Given the description of an element on the screen output the (x, y) to click on. 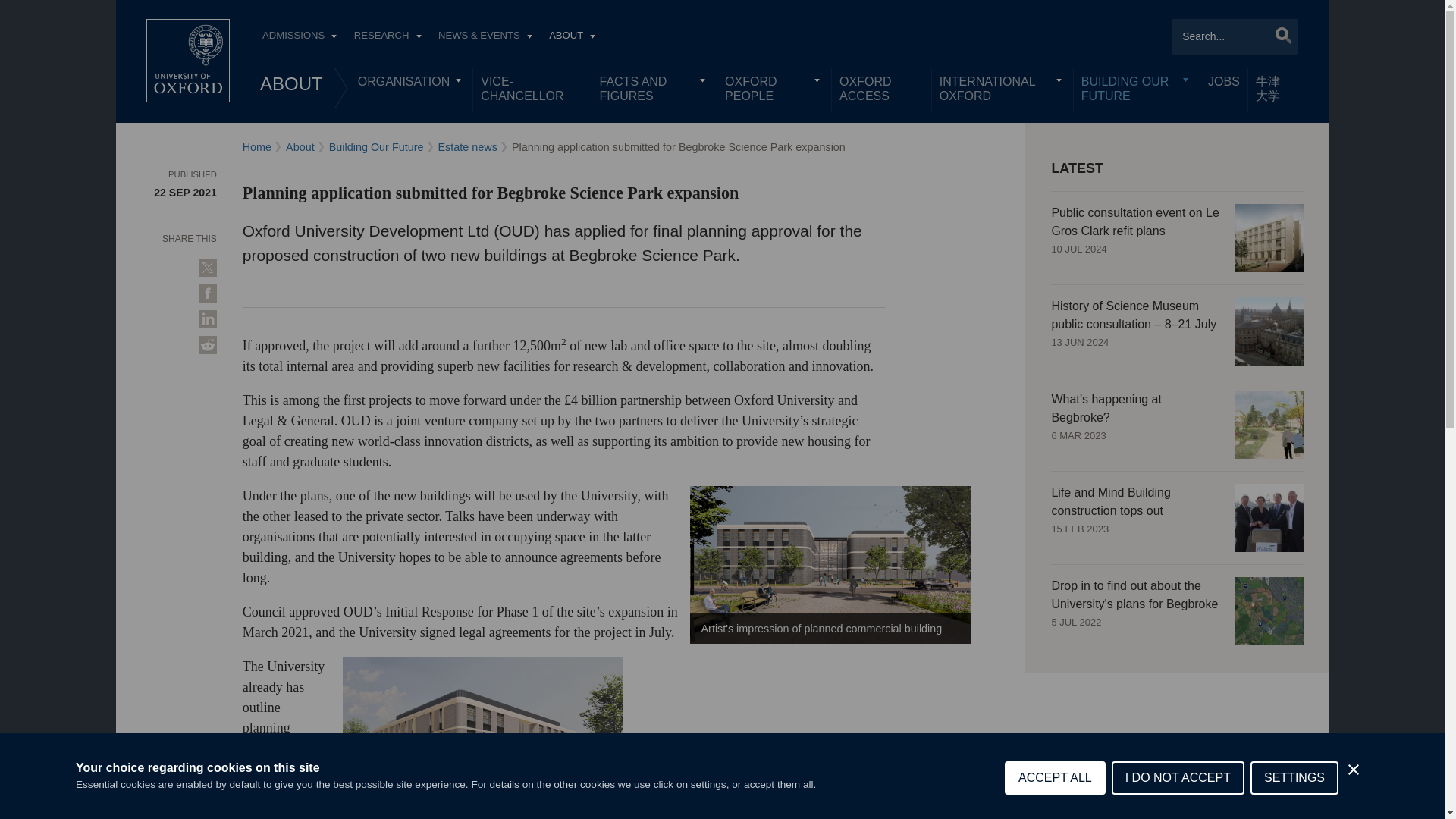
Home (188, 60)
Search (1279, 35)
Begbroke Science Park Phase 1 academic building (482, 735)
Enter the terms you wish to search for. (1235, 36)
Search (1279, 35)
SETTINGS (1294, 798)
ABOUT (571, 37)
RESEARCH (387, 37)
Home (188, 60)
ABOUT (291, 83)
I DO NOT ACCEPT (1178, 805)
ADMISSIONS (298, 37)
Begbroke Science Park Phase 1 commercial building (830, 564)
